Given the description of an element on the screen output the (x, y) to click on. 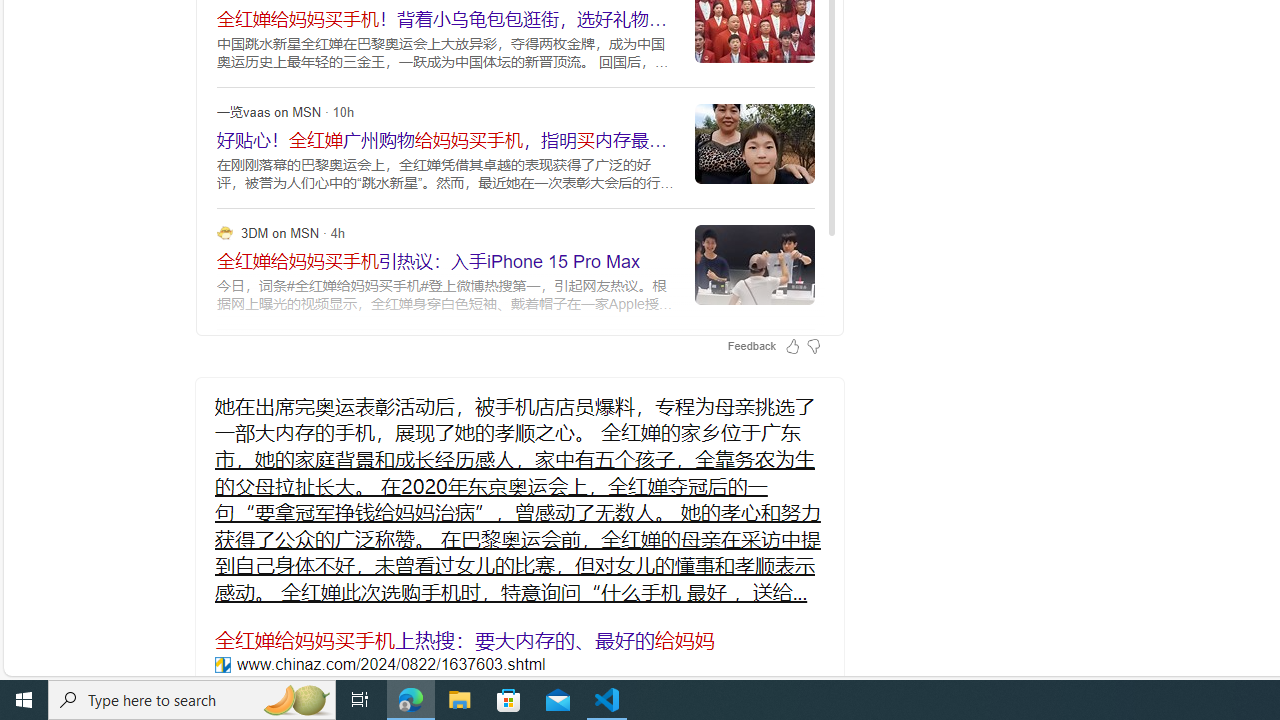
3DM on MSN (224, 232)
Feedback Like (792, 345)
Feedback Dislike (813, 345)
www.chinaz.com/2024/0822/1637603.shtml (222, 664)
